Given the description of an element on the screen output the (x, y) to click on. 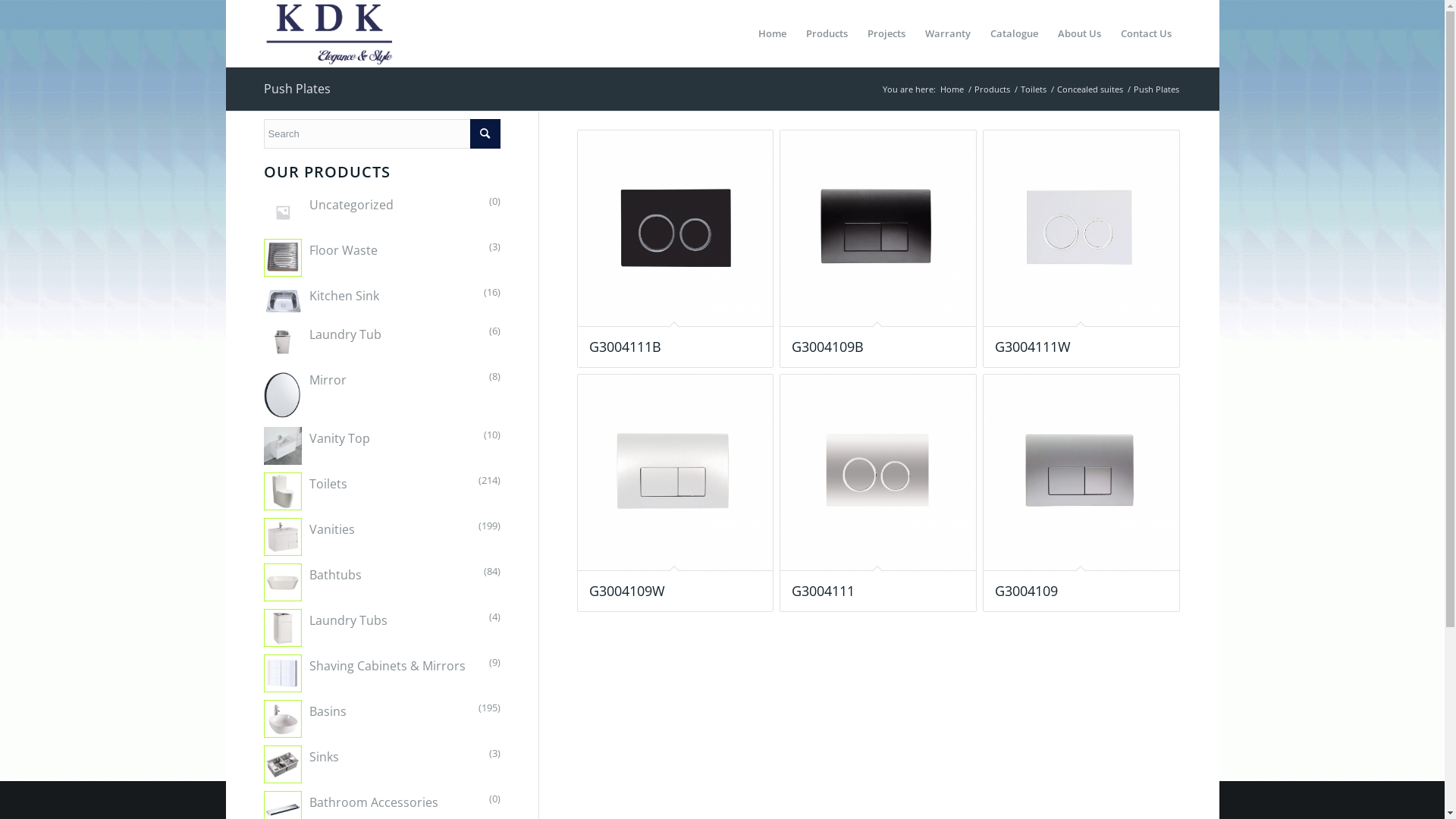
Projects Element type: text (885, 33)
Sinks Element type: hover (282, 764)
Laundry Tub Element type: hover (282, 341)
Home Element type: text (771, 33)
Toilets Element type: text (1032, 88)
G3004111W Element type: text (1081, 248)
Catalogue Element type: text (1013, 33)
Sinks Element type: text (300, 764)
G3004111 Element type: text (877, 492)
Home Element type: text (951, 88)
Vanity Top Element type: text (316, 445)
Concealed suites Element type: text (1089, 88)
Floor Waste Element type: hover (282, 257)
Laundry Tubs Element type: text (325, 627)
Toilets Element type: text (305, 491)
Basins Element type: text (304, 718)
Vanities Element type: text (308, 536)
Uncategorized Element type: text (328, 212)
Kitchen Sink Element type: text (321, 299)
Warranty Element type: text (946, 33)
Uncategorized Element type: hover (282, 212)
Bathtubs Element type: text (312, 582)
Shaving Cabinets & Mirrors Element type: hover (282, 673)
Bathtubs Element type: hover (282, 582)
Kitchen Sink Element type: hover (282, 299)
Products Element type: text (826, 33)
Laundry Tubs Element type: hover (282, 627)
G3004109 Element type: text (1081, 492)
Mirror Element type: text (304, 393)
Shaving Cabinets & Mirrors Element type: text (364, 673)
Mirror Element type: hover (282, 393)
G3004111B Element type: text (675, 248)
G3004109W Element type: text (675, 492)
Vanities Element type: hover (282, 536)
Floor Waste Element type: text (320, 257)
Contact Us Element type: text (1145, 33)
Vanity Top Element type: hover (282, 445)
Laundry Tub Element type: text (322, 341)
Products Element type: text (992, 88)
About Us Element type: text (1079, 33)
KDK Logo Element type: hover (329, 33)
G3004109B Element type: text (877, 248)
Toilets Element type: hover (282, 491)
Basins Element type: hover (282, 718)
